Given the description of an element on the screen output the (x, y) to click on. 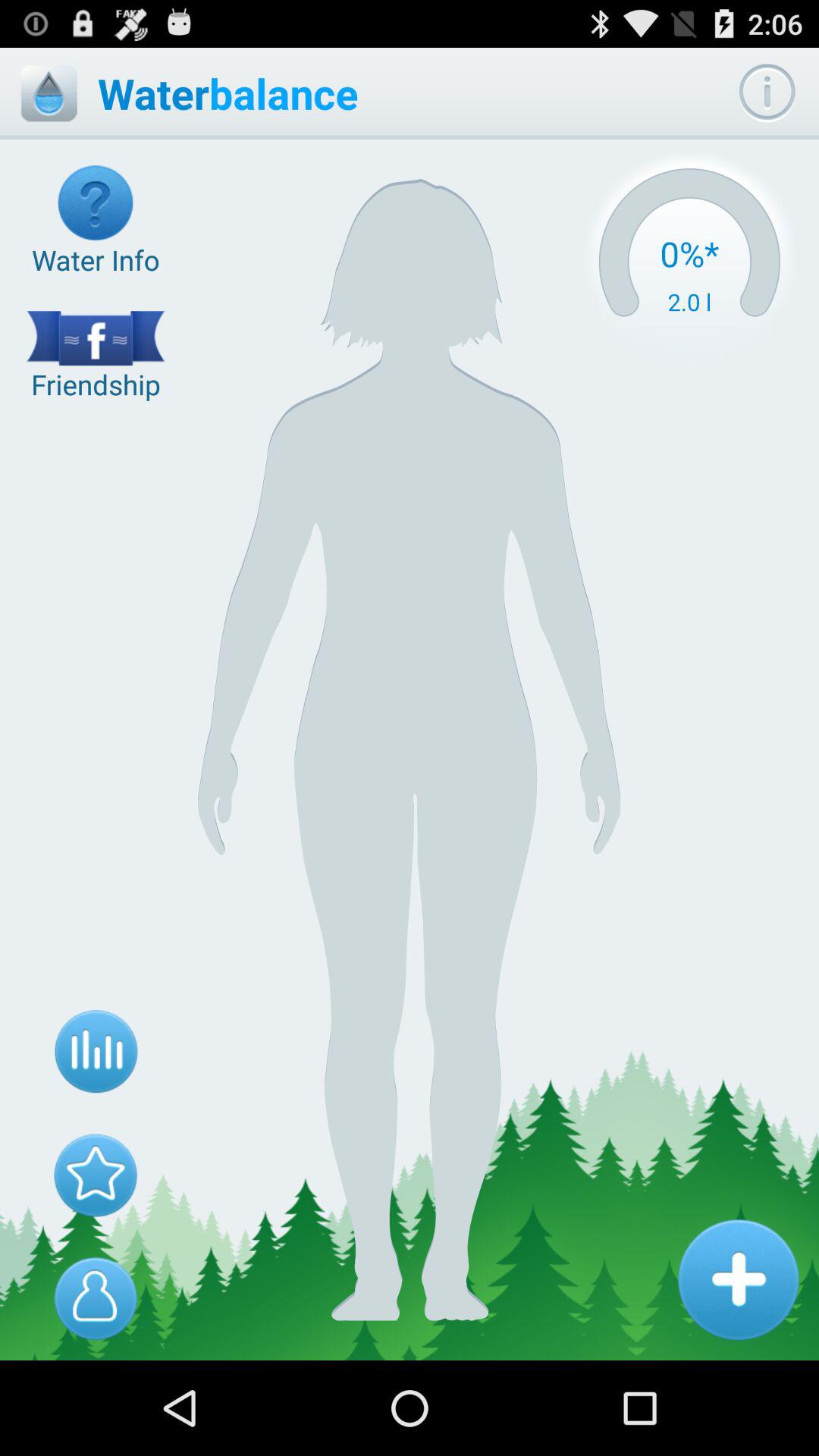
press icon below the friendship (95, 1051)
